Given the description of an element on the screen output the (x, y) to click on. 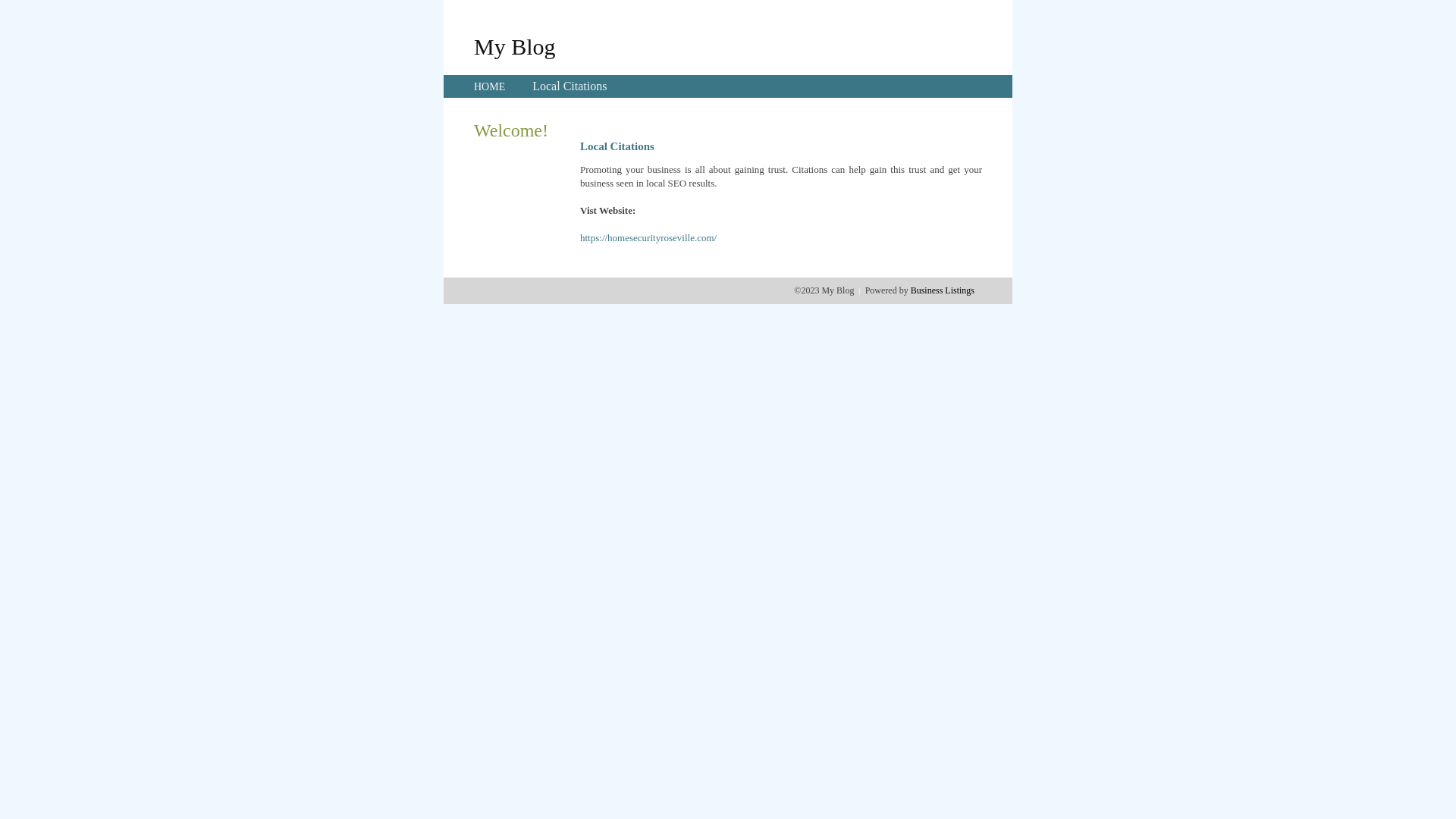
HOME Element type: text (489, 86)
My Blog Element type: text (514, 46)
Local Citations Element type: text (569, 85)
https://homesecurityroseville.com/ Element type: text (648, 237)
Business Listings Element type: text (942, 290)
